Given the description of an element on the screen output the (x, y) to click on. 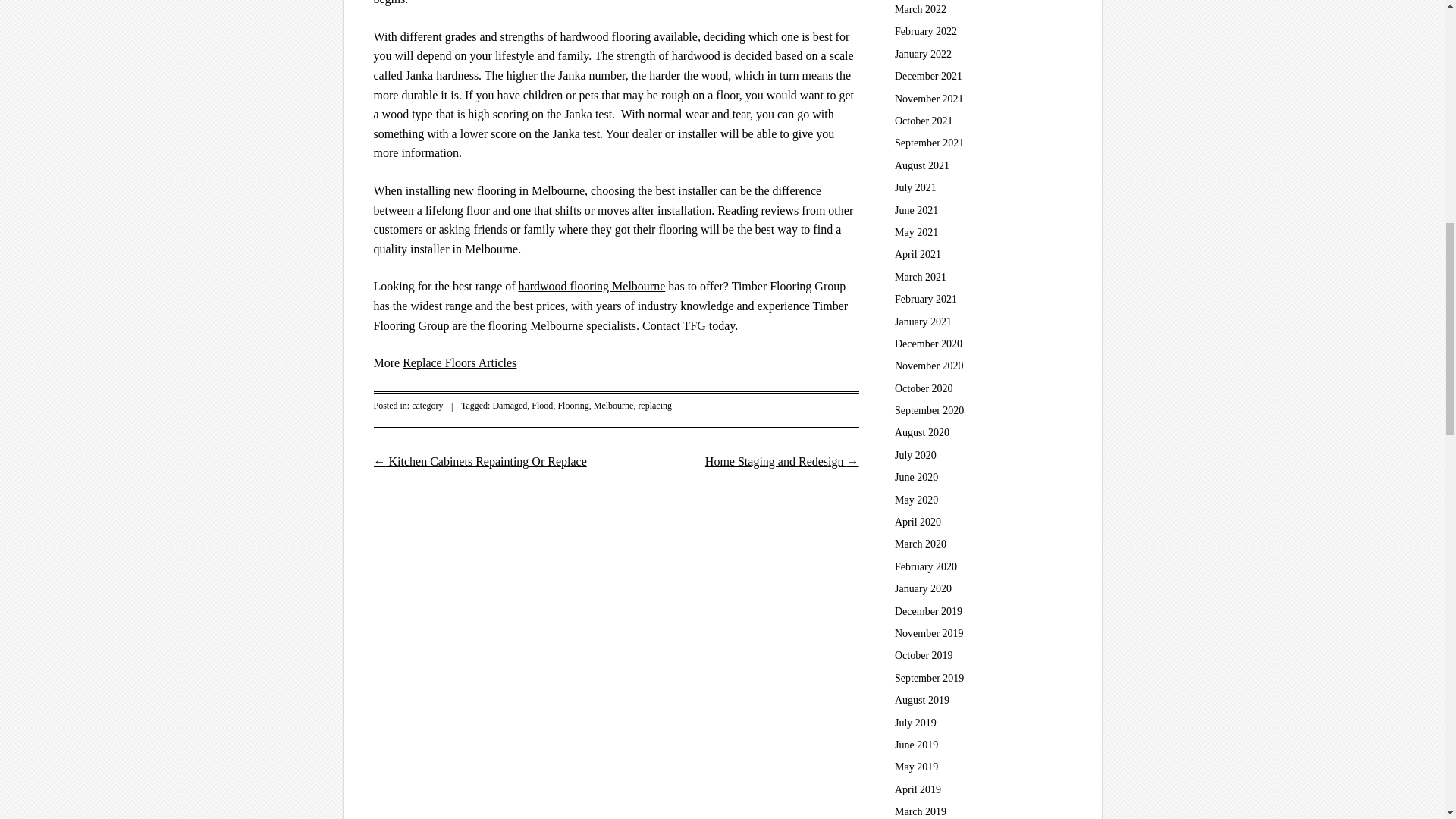
hardwood flooring Melbourne (591, 286)
Melbourne (613, 405)
Flooring (572, 405)
replacing (654, 405)
hardwood flooring Melbourne (591, 286)
Replace Floors Articles (459, 362)
flooring Melbourne (535, 325)
Flood (542, 405)
flooring Melbourne (535, 325)
Damaged (509, 405)
category (427, 405)
